Given the description of an element on the screen output the (x, y) to click on. 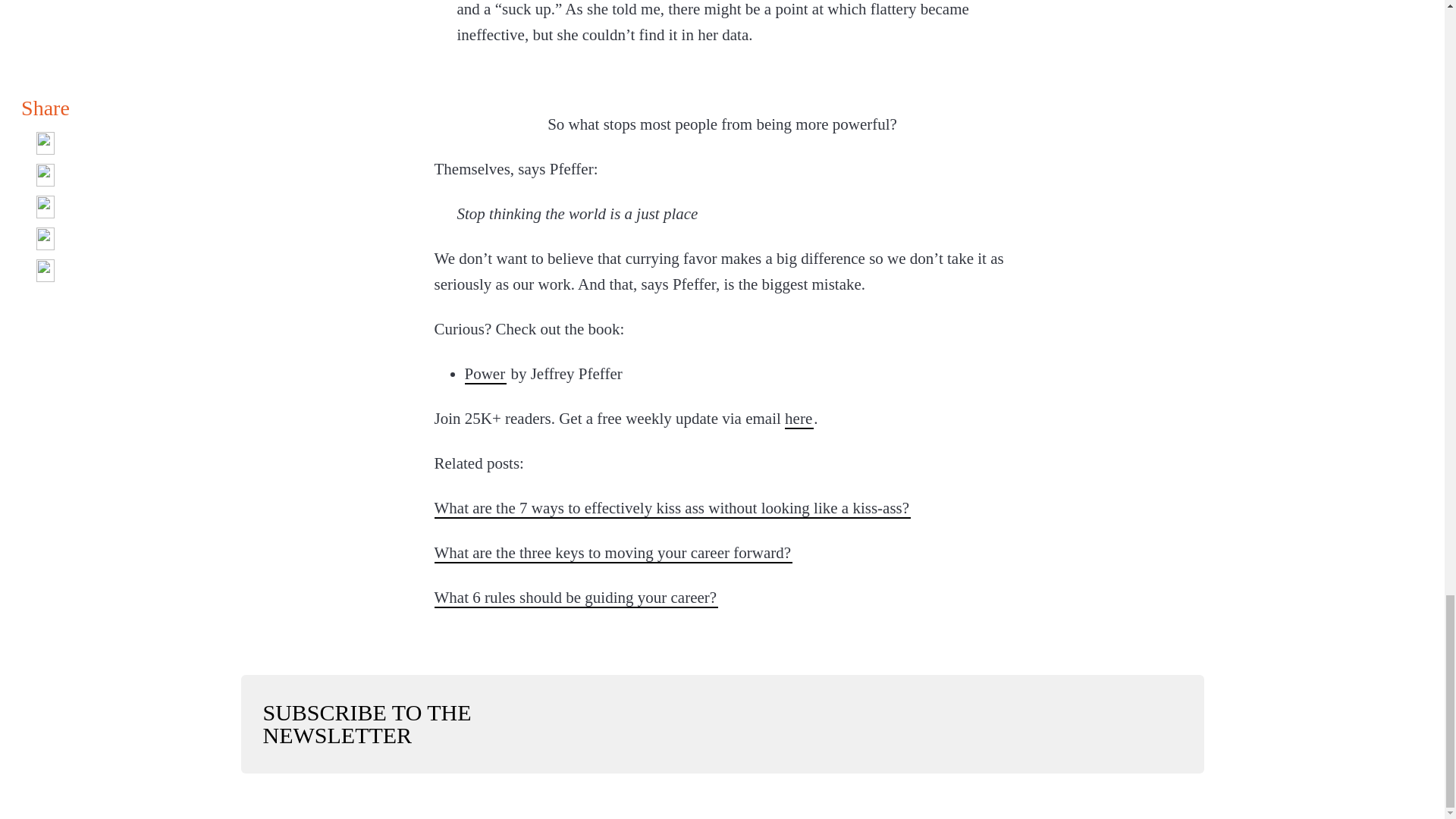
What 6 rules should be guiding your career? (575, 597)
here (798, 418)
Permalink (612, 552)
Permalink (575, 597)
Power (485, 373)
What are the three keys to moving your career forward? (612, 552)
